Given the description of an element on the screen output the (x, y) to click on. 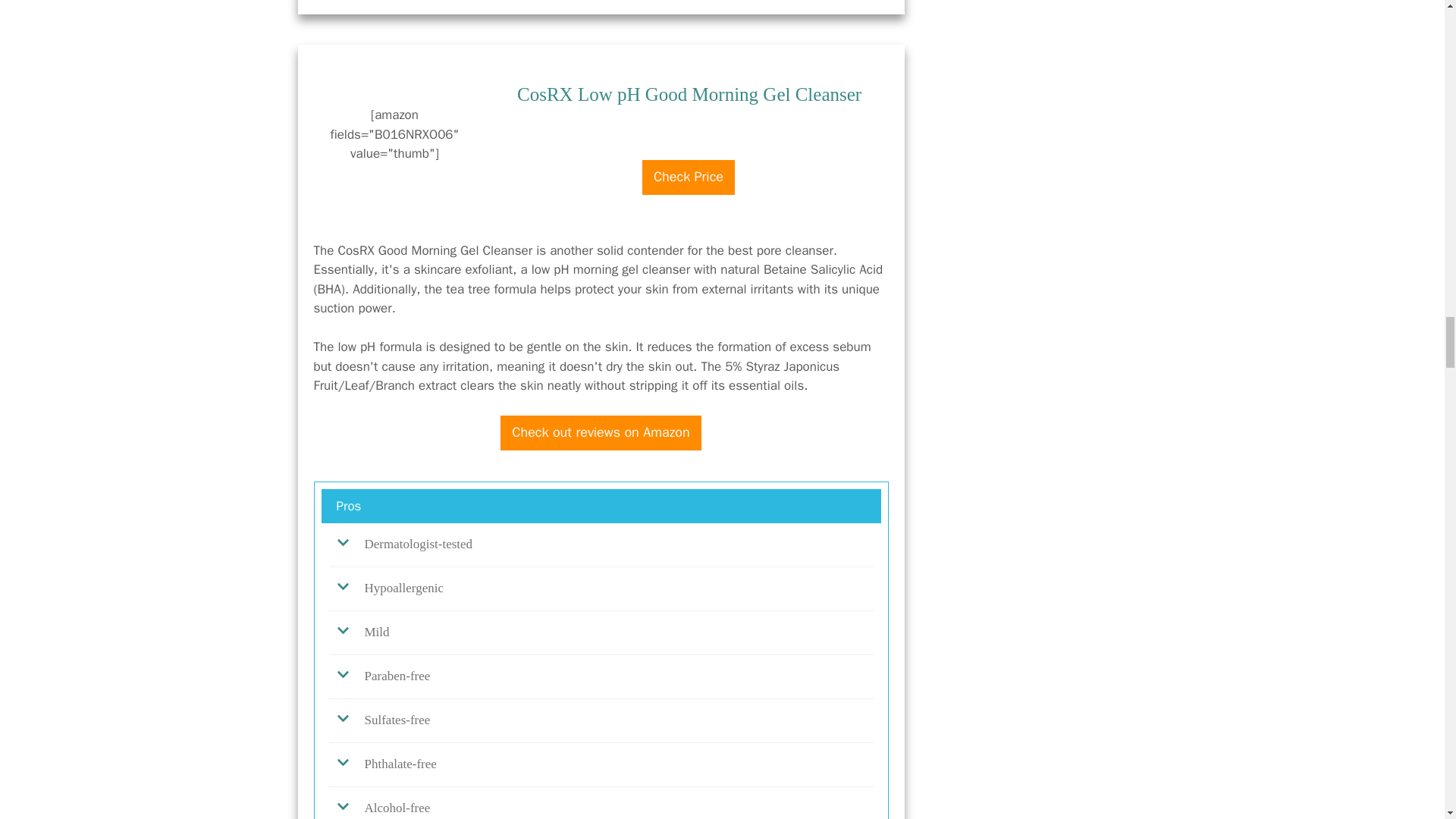
amazon (688, 152)
